Given the description of an element on the screen output the (x, y) to click on. 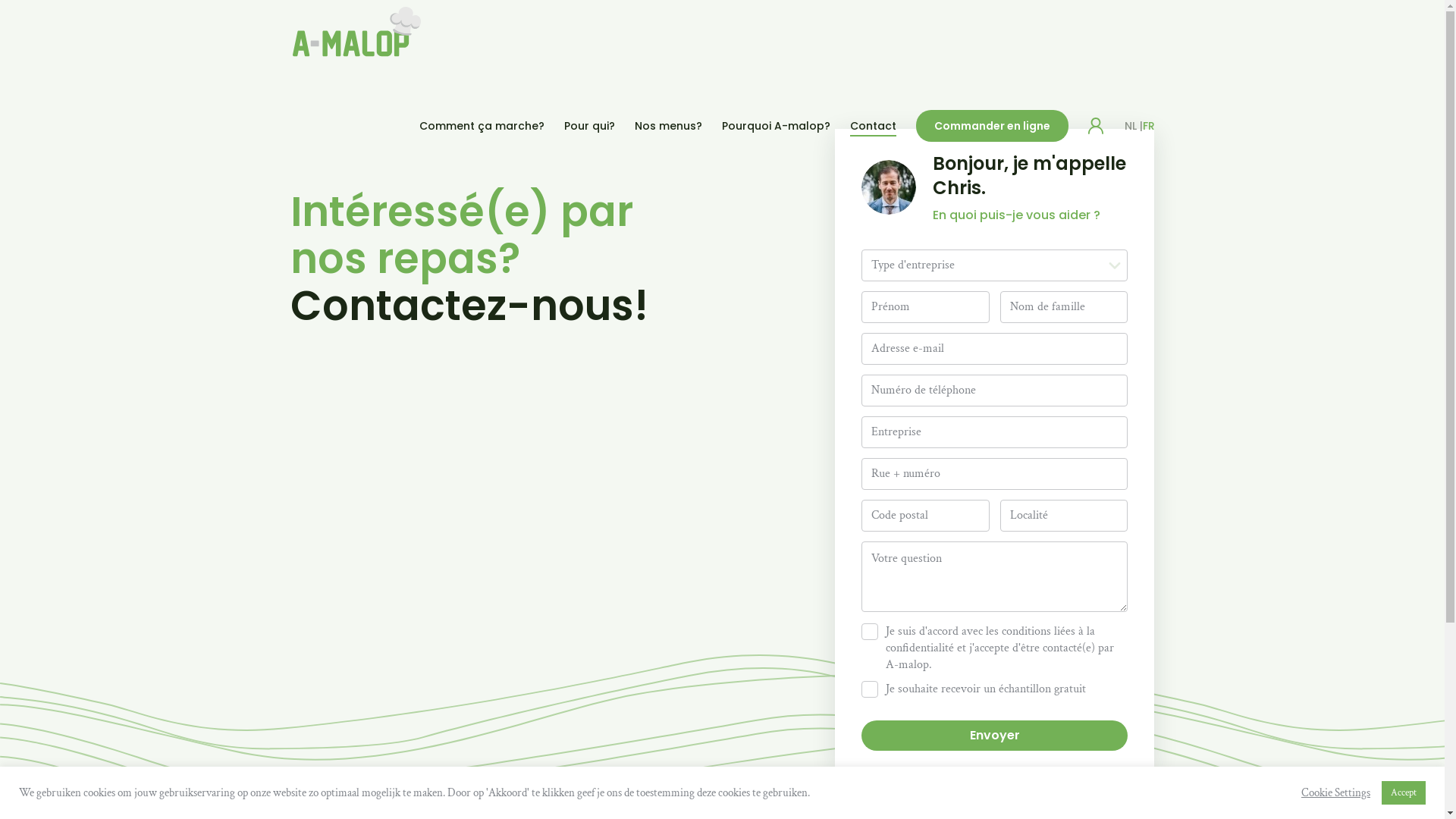
Pourquoi A-malop? Element type: text (775, 125)
Cookie Settings Element type: text (1335, 792)
Accept Element type: text (1403, 792)
Contact Element type: text (872, 125)
Commander en ligne Element type: text (992, 125)
Nos menus? Element type: text (667, 125)
FR Element type: text (1148, 125)
NL Element type: text (1129, 125)
Pour qui? Element type: text (589, 125)
A-Malop Element type: text (354, 31)
Envoyer Element type: text (994, 735)
Login Element type: text (1094, 125)
